Given the description of an element on the screen output the (x, y) to click on. 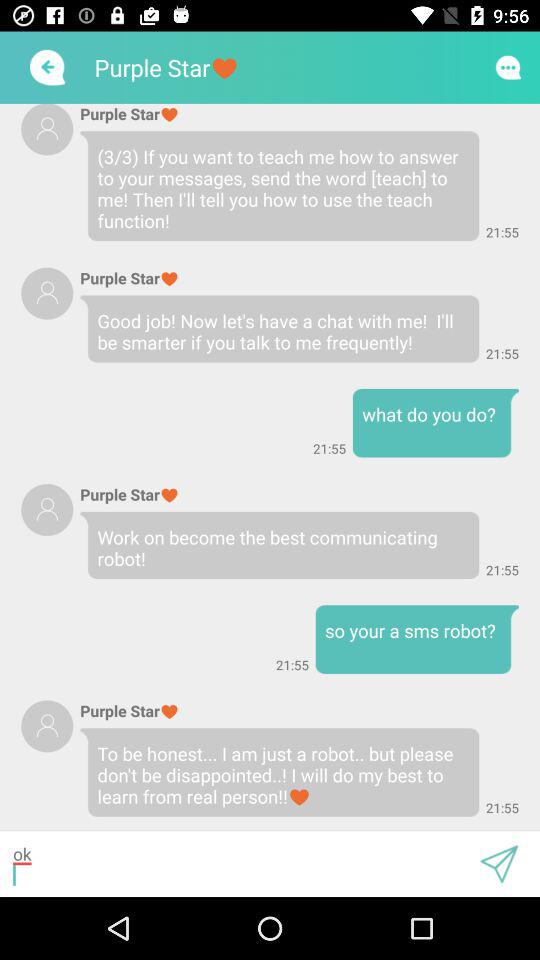
enter profile (47, 129)
